Given the description of an element on the screen output the (x, y) to click on. 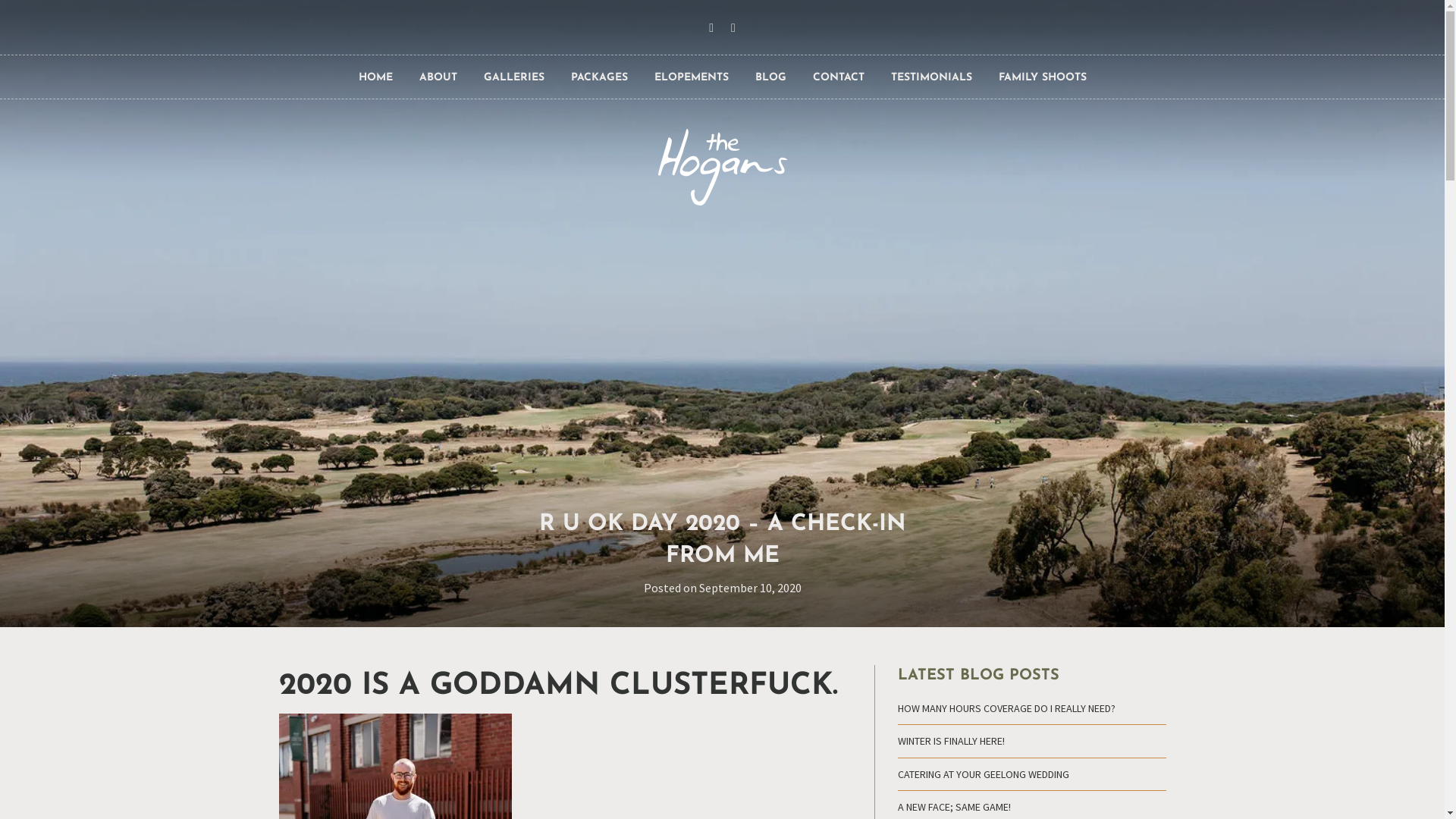
CONTACT Element type: text (838, 77)
September 10, 2020 Element type: text (750, 587)
WINTER IS FINALLY HERE! Element type: text (950, 740)
ABOUT Element type: text (437, 77)
HOME Element type: text (374, 77)
HOW MANY HOURS COVERAGE DO I REALLY NEED? Element type: text (1006, 708)
A NEW FACE; SAME GAME! Element type: text (953, 806)
TESTIMONIALS Element type: text (930, 77)
ELOPEMENTS Element type: text (690, 77)
PACKAGES Element type: text (598, 77)
FAMILY SHOOTS Element type: text (1041, 77)
GALLERIES Element type: text (513, 77)
BLOG Element type: text (770, 77)
CATERING AT YOUR GEELONG WEDDING Element type: text (983, 774)
